Given the description of an element on the screen output the (x, y) to click on. 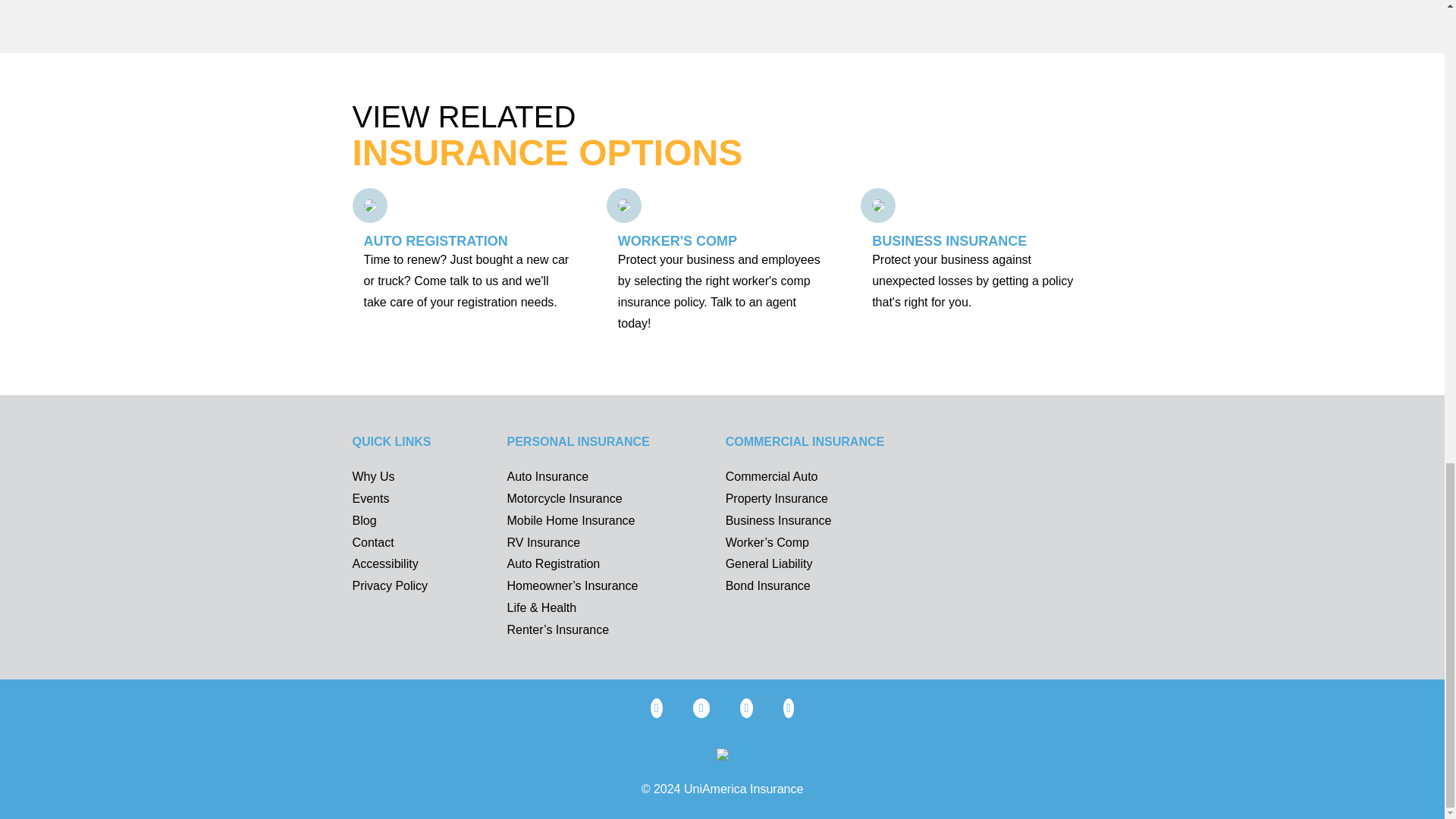
Why Us (373, 476)
